Given the description of an element on the screen output the (x, y) to click on. 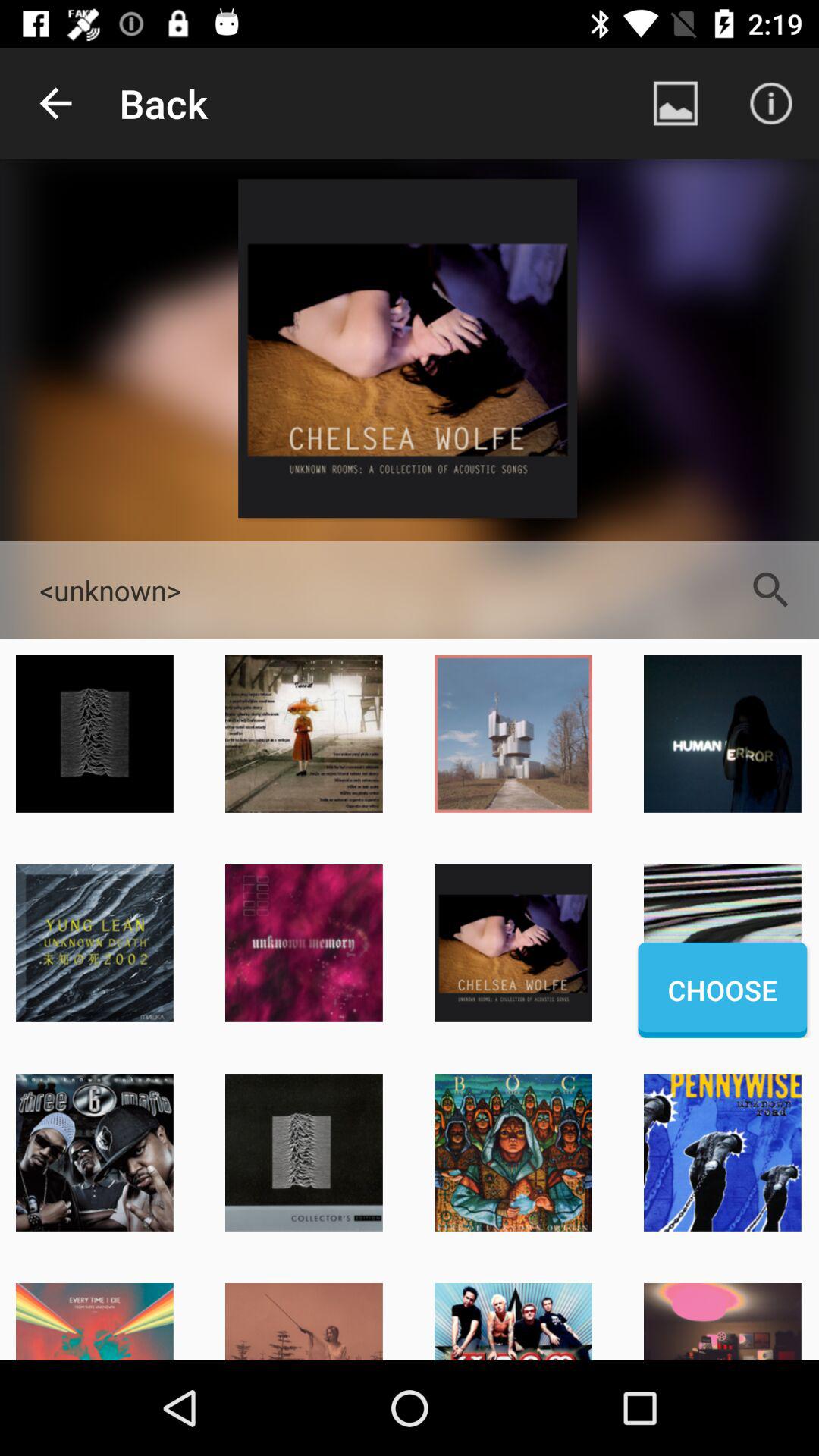
flip to the choose icon (722, 989)
